Given the description of an element on the screen output the (x, y) to click on. 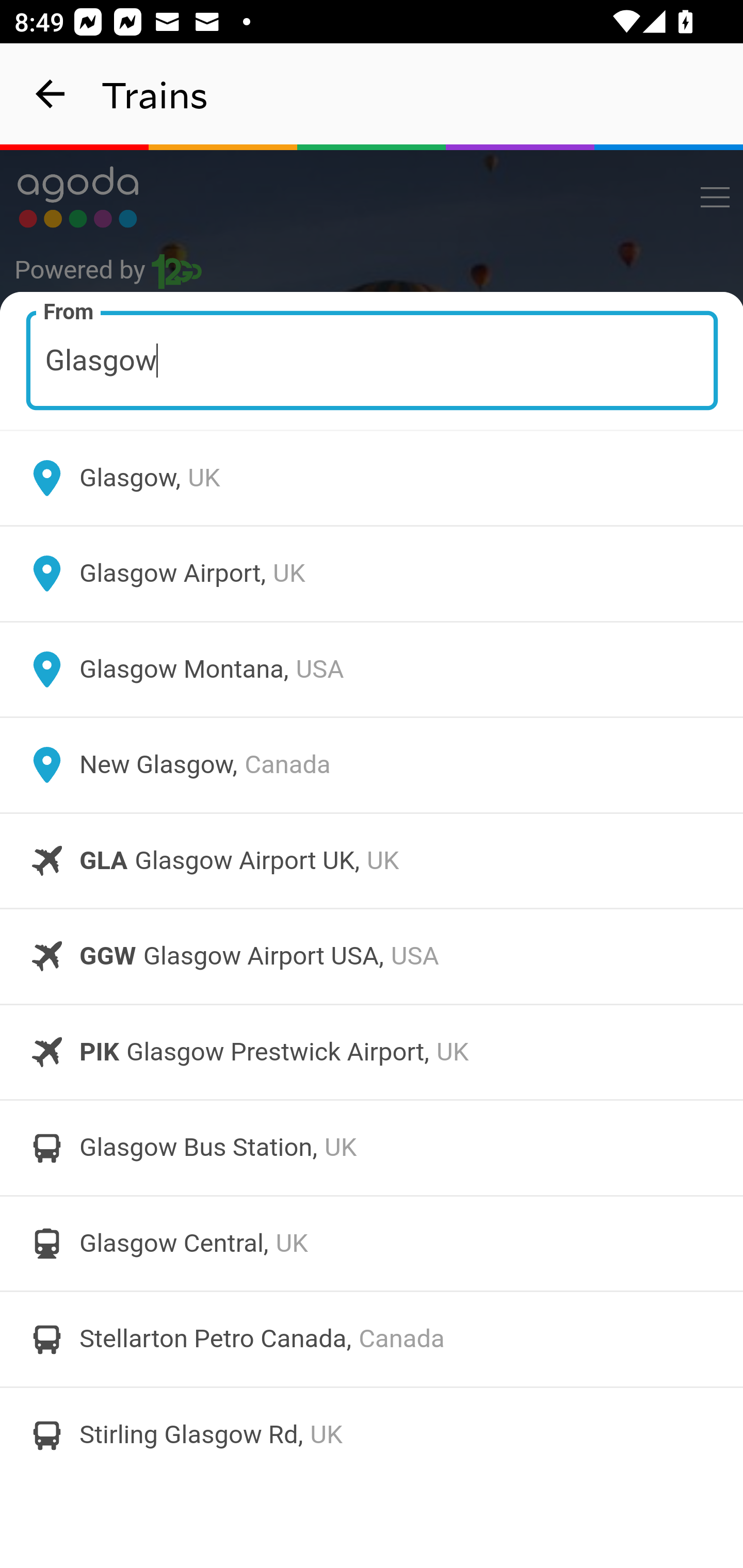
navigation_button (50, 93)
Glasgow (372, 359)
Glasgow,UK (371, 477)
Glasgow Airport,UK (371, 573)
Glasgow Montana,USA (371, 669)
New Glasgow,Canada (371, 764)
GLA Glasgow Airport UK , UK (371, 860)
GGW Glasgow Airport USA , USA (371, 956)
PIK Glasgow Prestwick Airport , UK (371, 1051)
Glasgow Bus Station,UK (371, 1147)
Glasgow Central,UK (371, 1243)
Stellarton Petro Canada,Canada (371, 1339)
Stirling Glasgow Rd,UK (371, 1433)
